Given the description of an element on the screen output the (x, y) to click on. 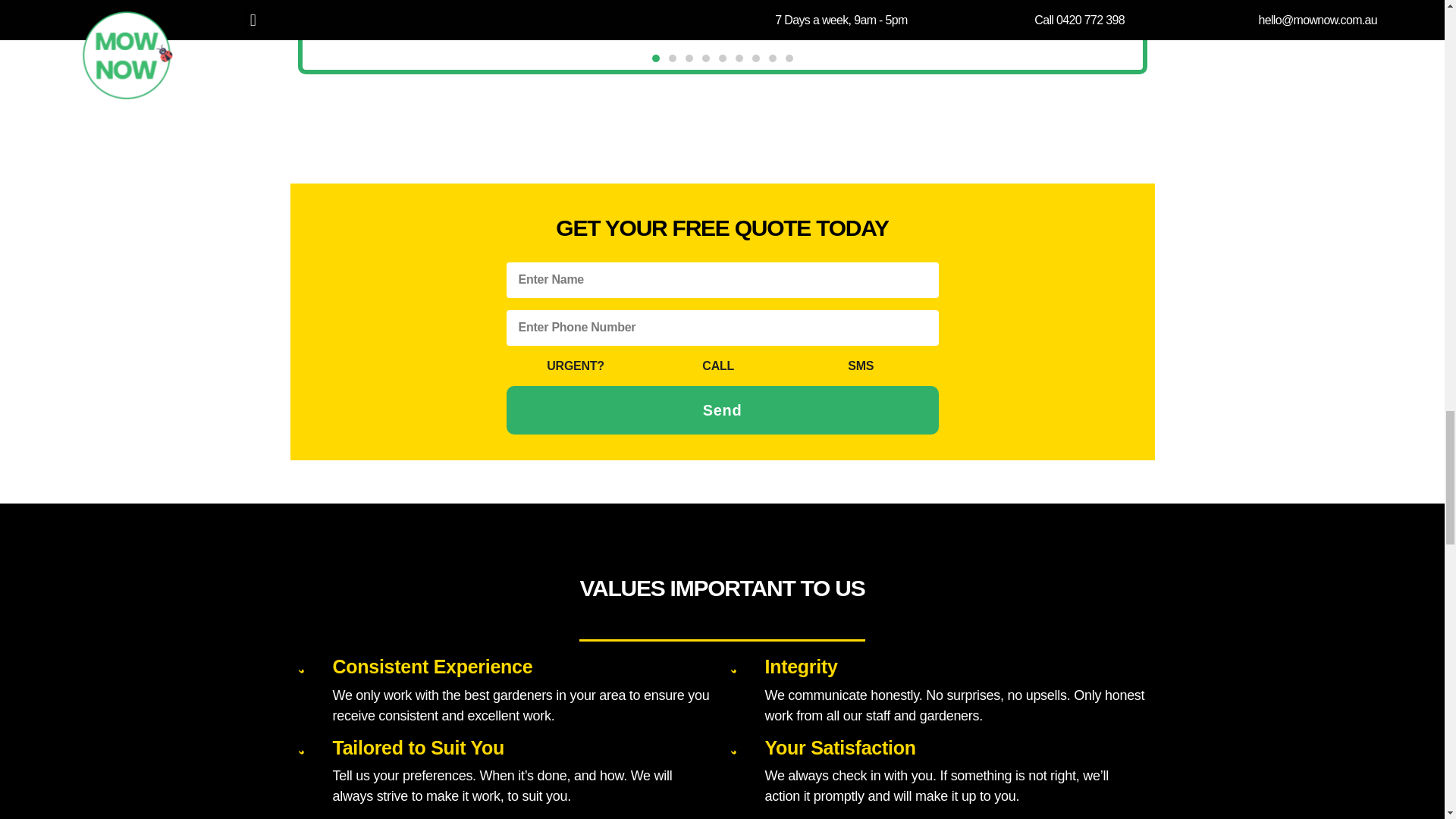
Send (722, 409)
